Given the description of an element on the screen output the (x, y) to click on. 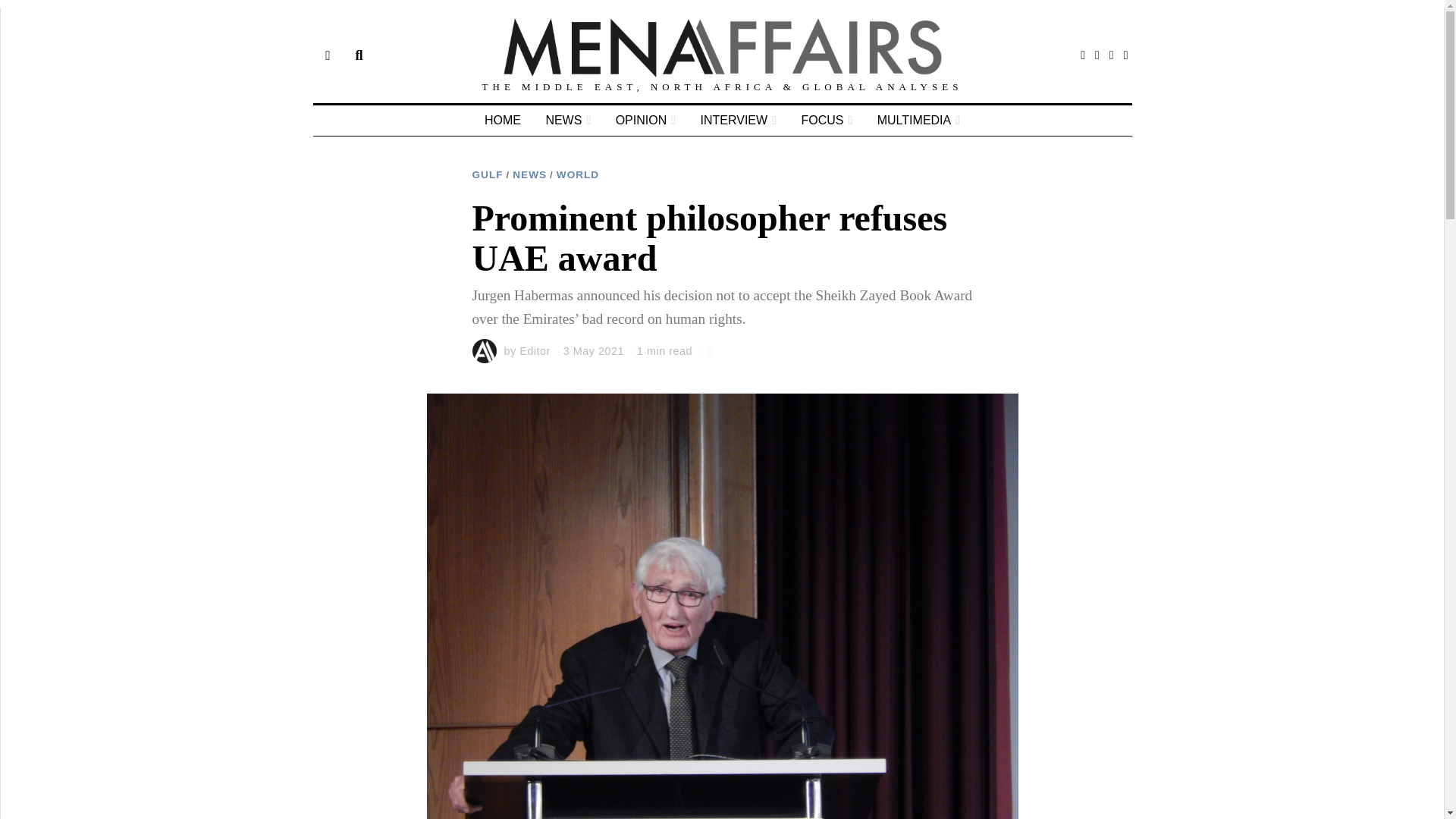
MULTIMEDIA (918, 120)
Twitter (1096, 54)
HOME (502, 120)
Facebook (1083, 54)
OPINION (645, 120)
NEWS (567, 120)
INTERVIEW (738, 120)
NEWS (529, 174)
Editor (534, 350)
GULF (486, 174)
FOCUS (826, 120)
WORLD (577, 174)
Instagram (1111, 54)
YouTube (1125, 54)
